Given the description of an element on the screen output the (x, y) to click on. 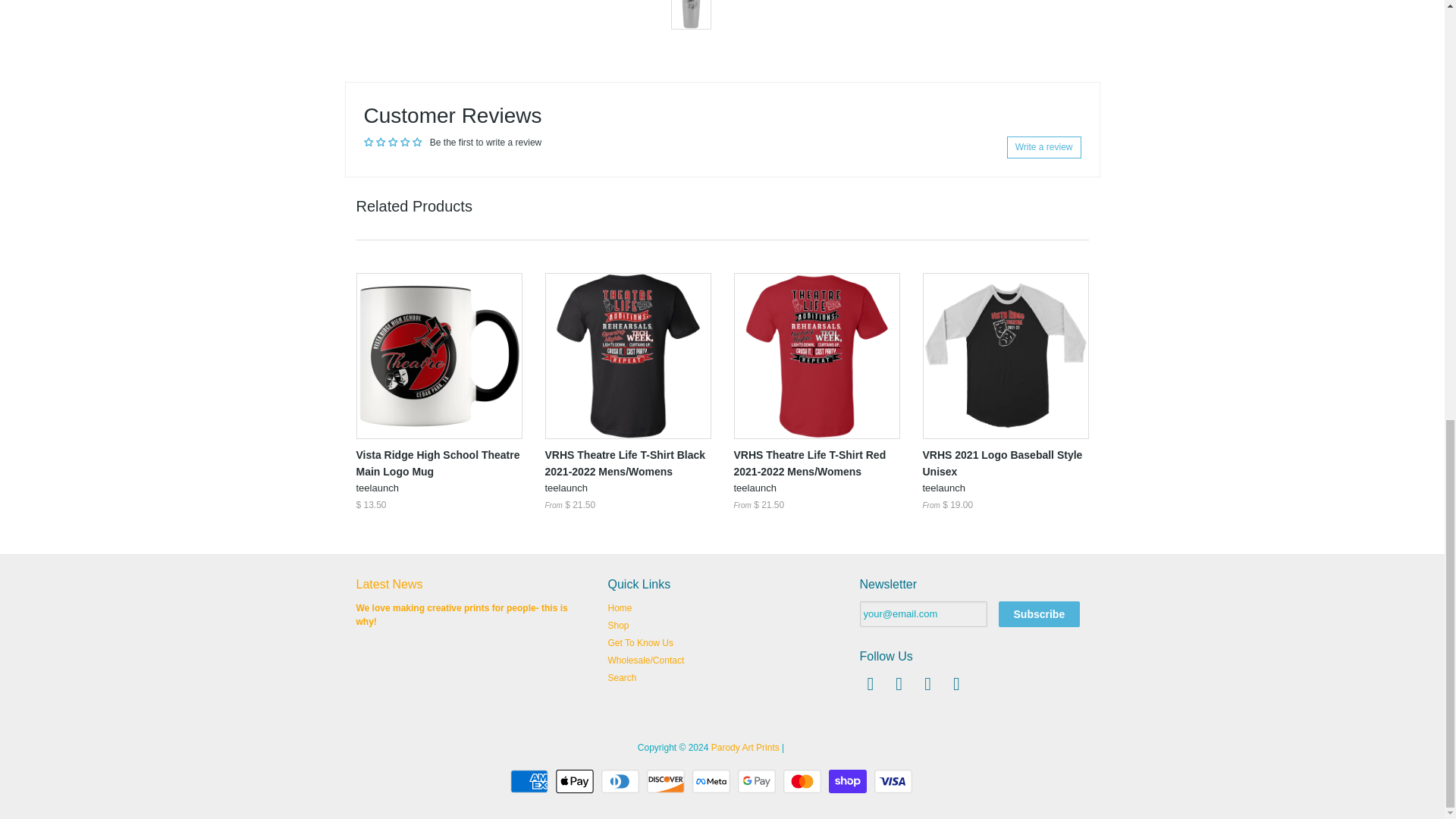
Subscribe (1038, 614)
Shop  (618, 624)
Follow us on Facebook! (872, 687)
Follow us on Instagram! (958, 687)
Follow us on Twitter! (900, 687)
Get To Know Us (640, 643)
Search (622, 677)
Follow us on Pinterest! (930, 687)
Home (619, 607)
